Given the description of an element on the screen output the (x, y) to click on. 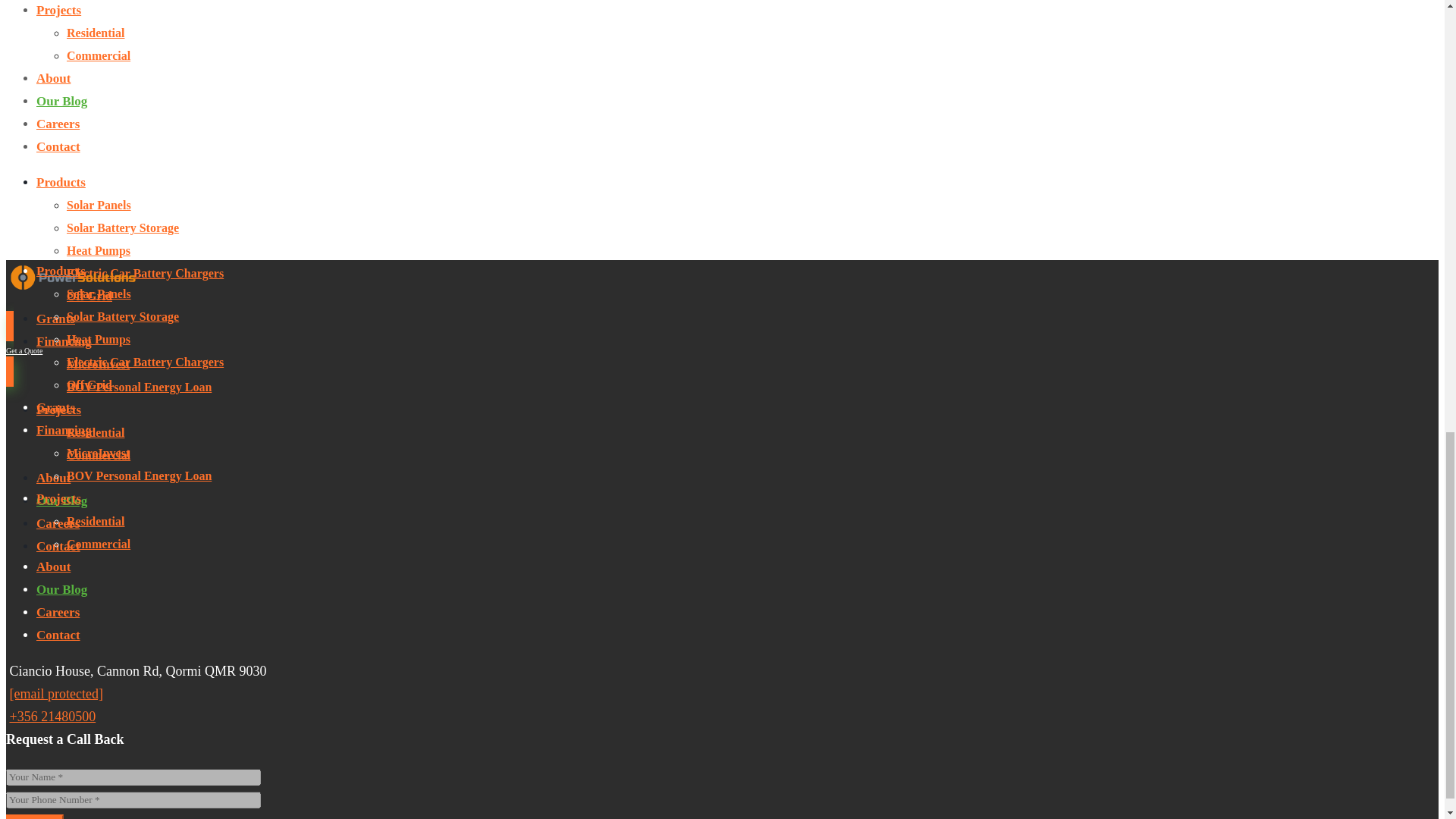
About (52, 78)
Residential (94, 32)
Projects (58, 10)
Commercial (98, 55)
